Given the description of an element on the screen output the (x, y) to click on. 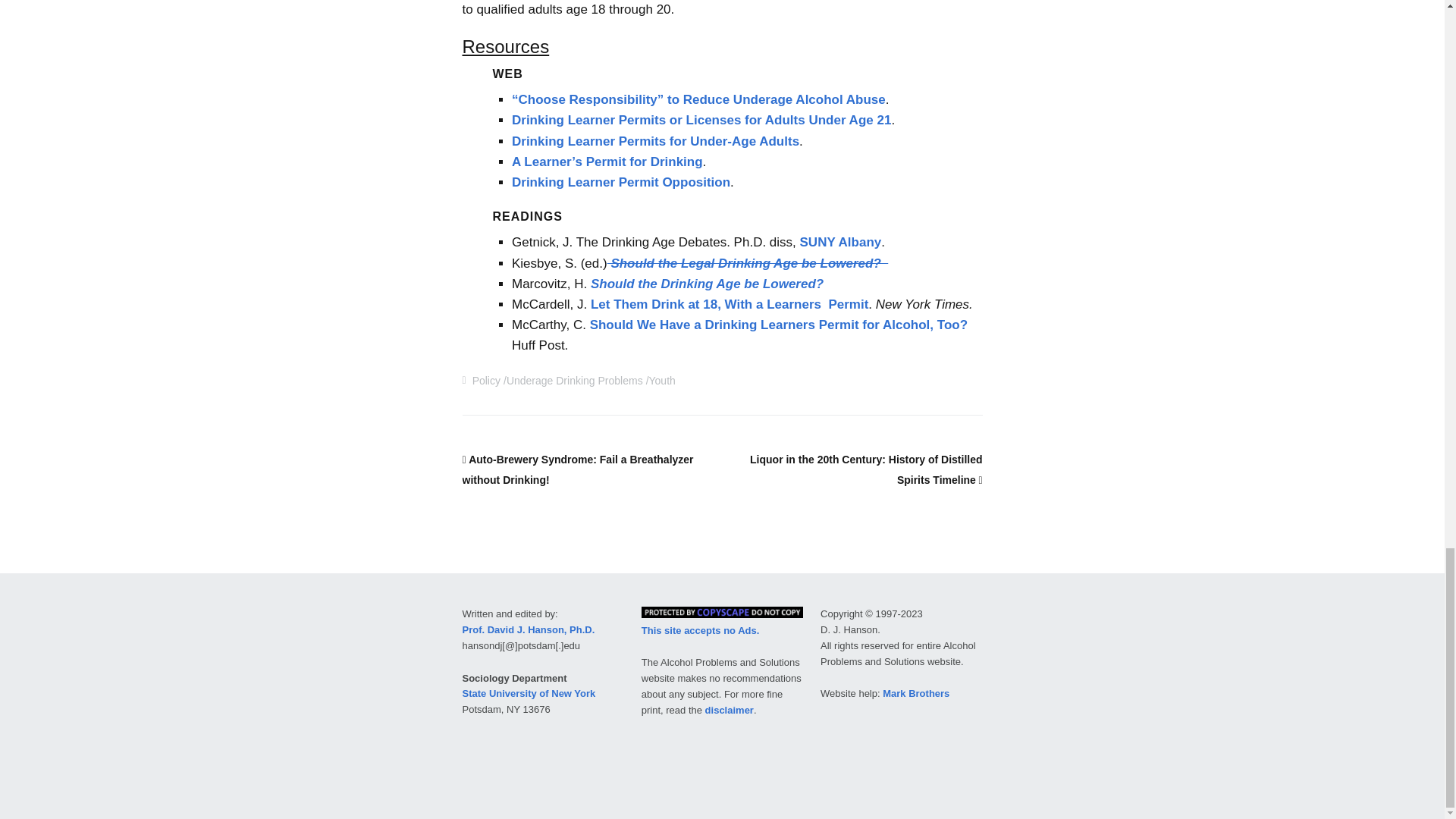
Let Them Drink at 18, With a Learners  Permit (729, 304)
Should the Drinking Age be Lowered? (705, 283)
Drinking Learner Permit Opposition (621, 182)
disclaimer (729, 709)
Should the Legal Drinking Age be Lowered?   (747, 263)
Auto-Brewery Syndrome: Fail a Breathalyzer without Drinking! (578, 469)
Should We Have a Drinking Learners Permit for Alcohol, Too? (778, 324)
Prof. David J. Hanson, Ph.D. (529, 629)
Mark Brothers (915, 693)
This site accepts no Ads. (701, 630)
Drinking Learner Permits for Under-Age Adults (655, 141)
Policy (485, 380)
Youth (662, 380)
SUNY Albany (840, 242)
